Given the description of an element on the screen output the (x, y) to click on. 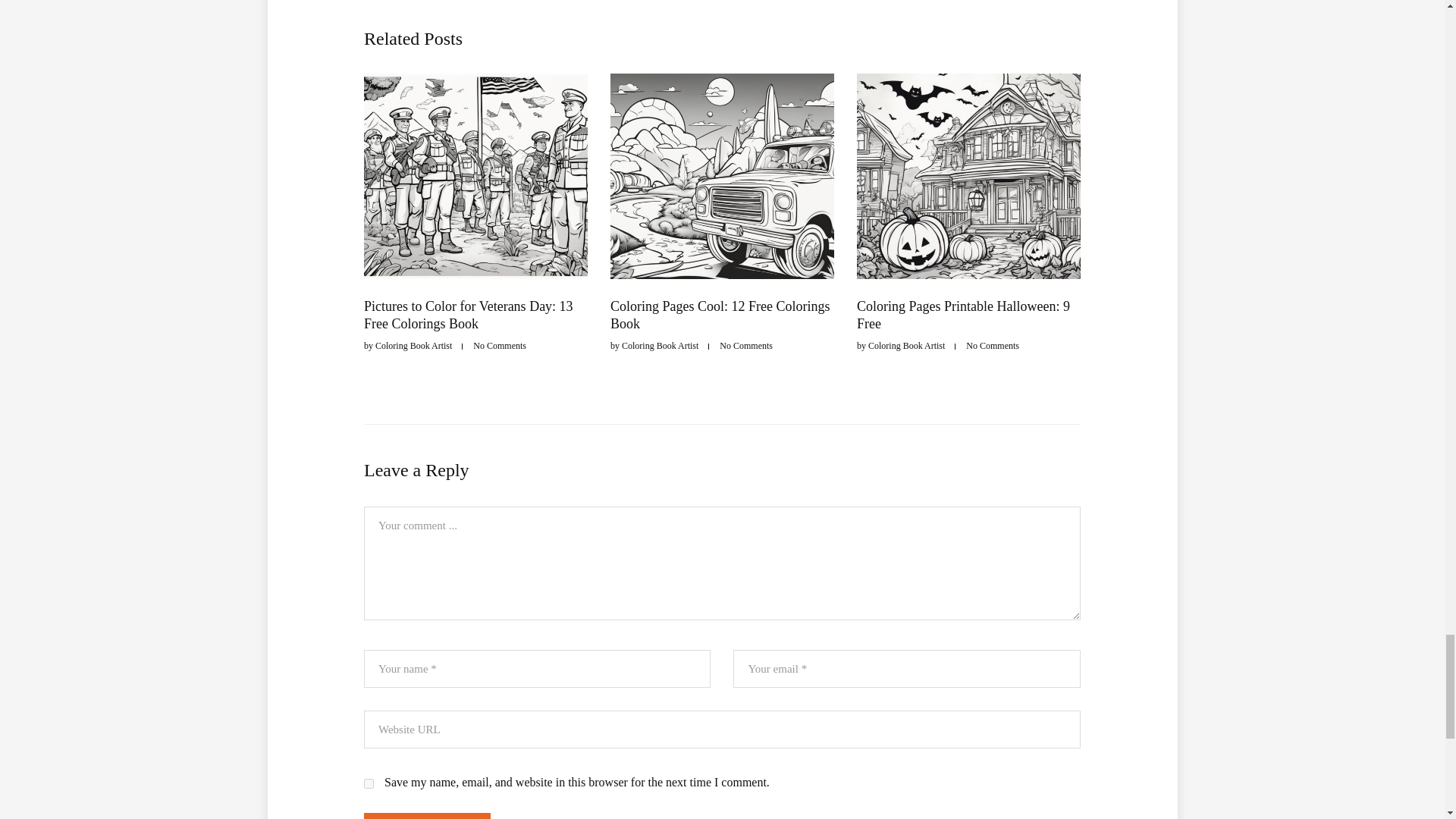
Post Comment (427, 816)
yes (369, 783)
